Given the description of an element on the screen output the (x, y) to click on. 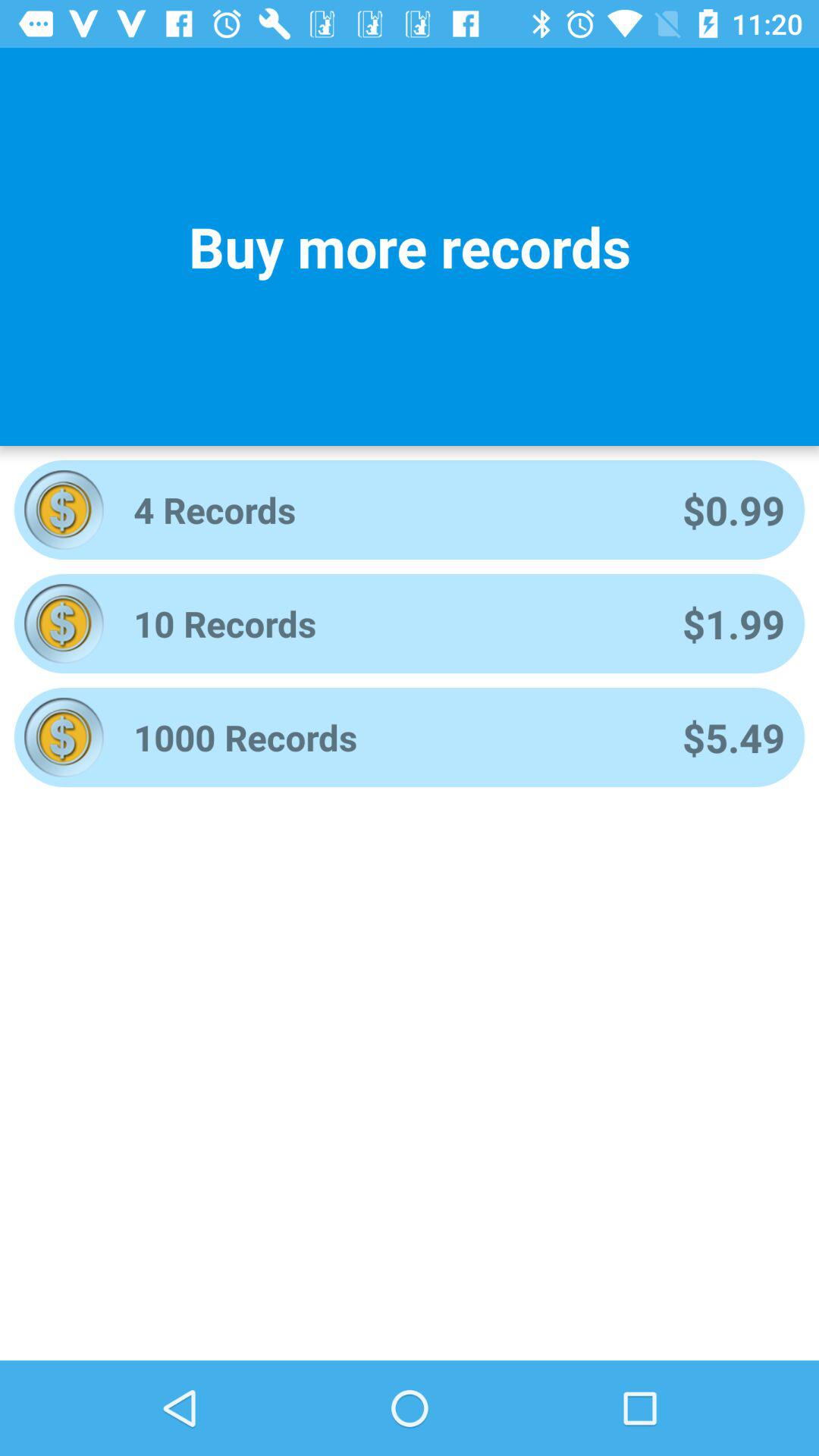
swipe to the 1000 records app (387, 736)
